Given the description of an element on the screen output the (x, y) to click on. 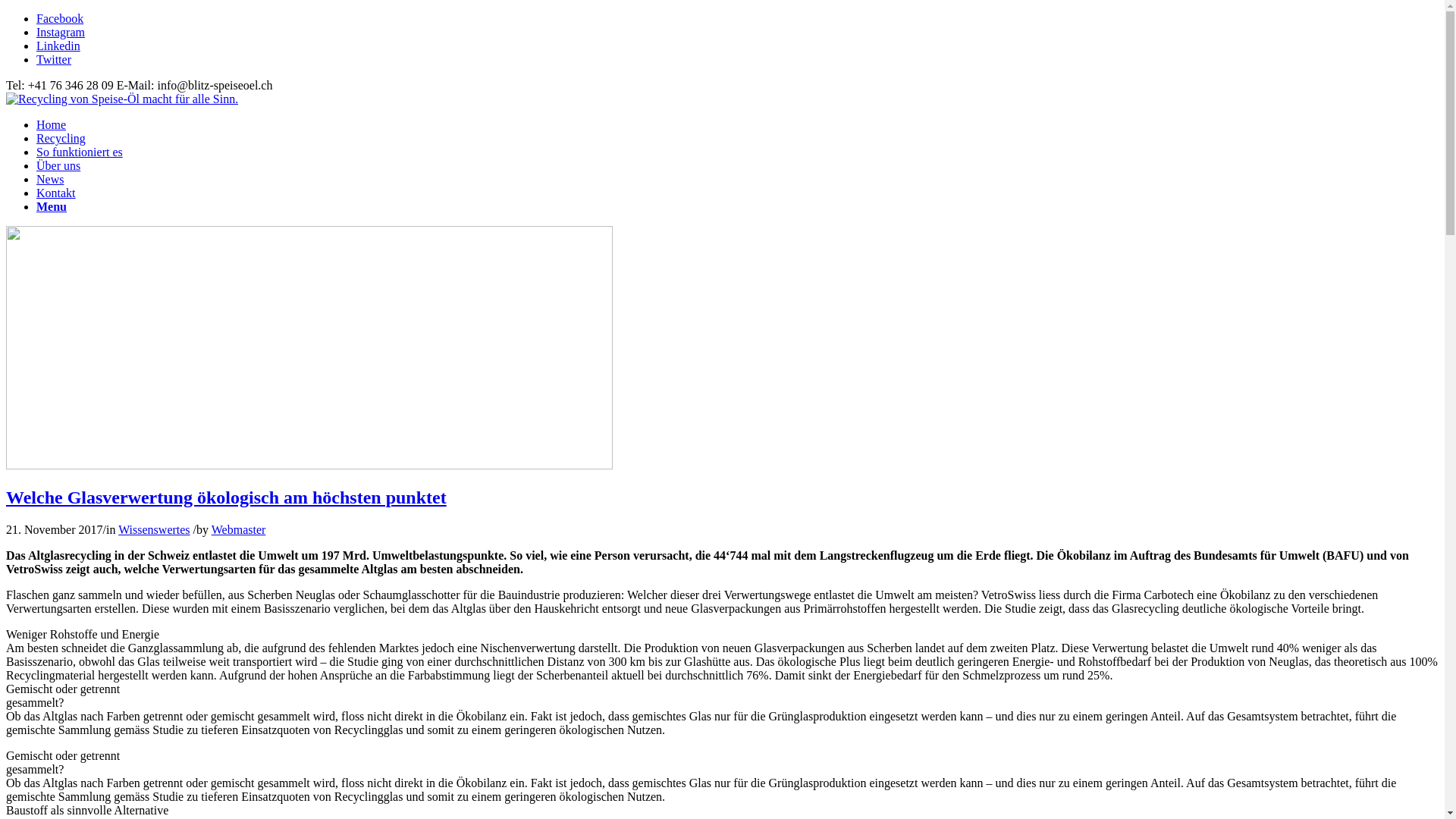
Twitter Element type: text (53, 59)
News Element type: text (49, 178)
Kontakt Element type: text (55, 192)
Webmaster Element type: text (238, 529)
Facebook Element type: text (59, 18)
Wissenswertes Element type: text (153, 529)
Instagram Element type: text (60, 31)
Linkedin Element type: text (58, 45)
Home Element type: text (50, 124)
Menu Element type: text (51, 206)
So funktioniert es Element type: text (79, 151)
Recycling Element type: text (60, 137)
